Given the description of an element on the screen output the (x, y) to click on. 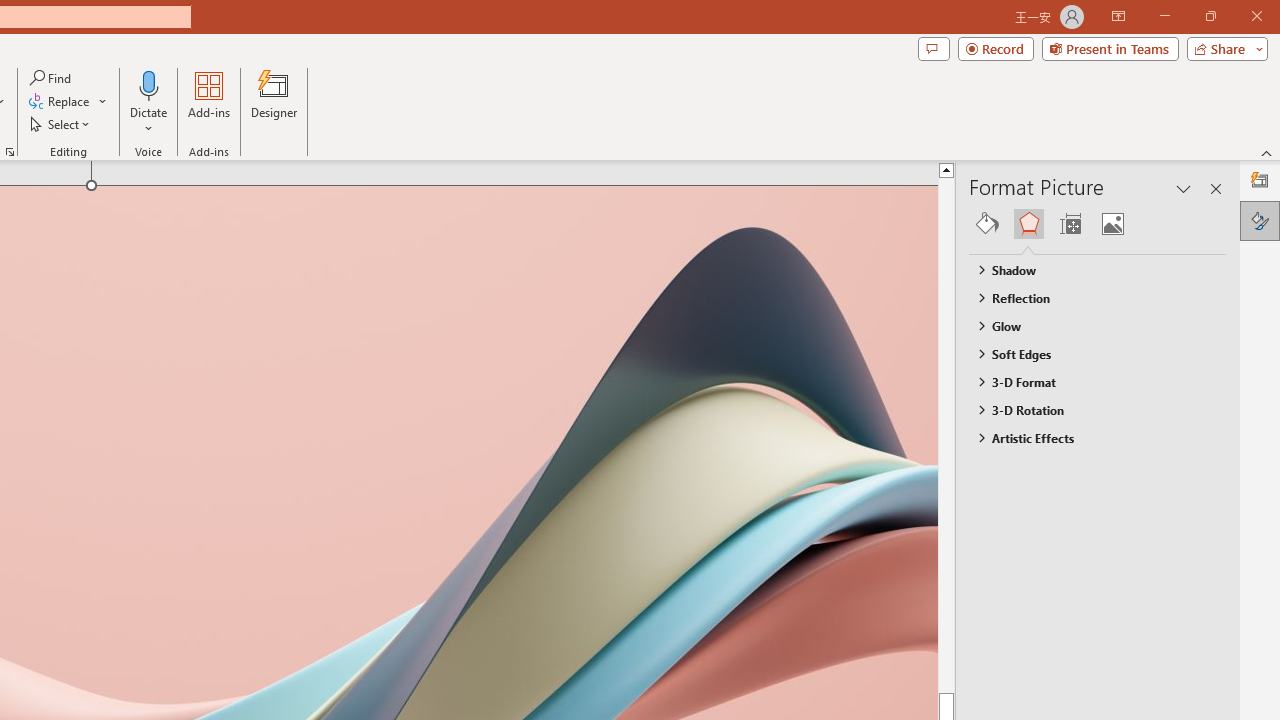
Format Object... (9, 151)
Find... (51, 78)
Picture (1112, 223)
Class: NetUIGalleryContainer (1098, 223)
Soft Edges (1088, 353)
